Given the description of an element on the screen output the (x, y) to click on. 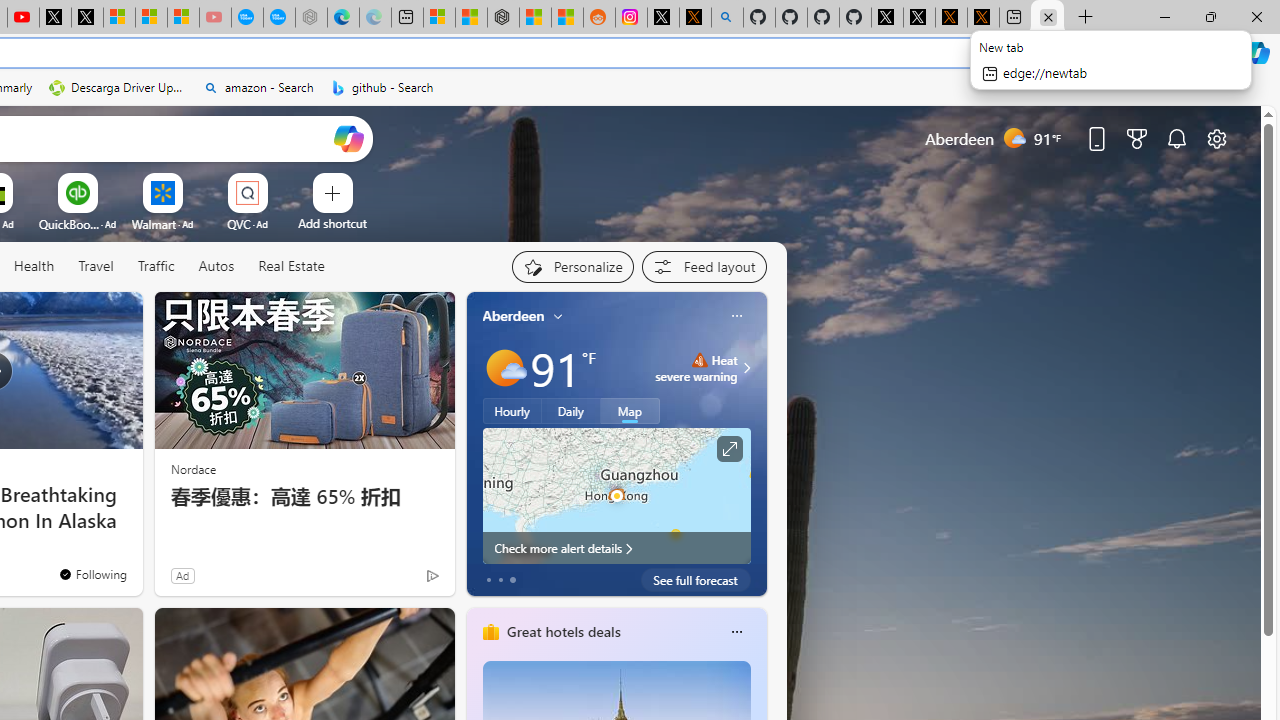
Gloom - YouTube - Sleeping (215, 17)
Mostly sunny (504, 368)
Heat - Severe Heat severe warning (696, 367)
This story is trending (393, 579)
Class: weather-arrow-glyph (746, 367)
Hourly (511, 411)
You're following The Weather Channel (92, 573)
